Given the description of an element on the screen output the (x, y) to click on. 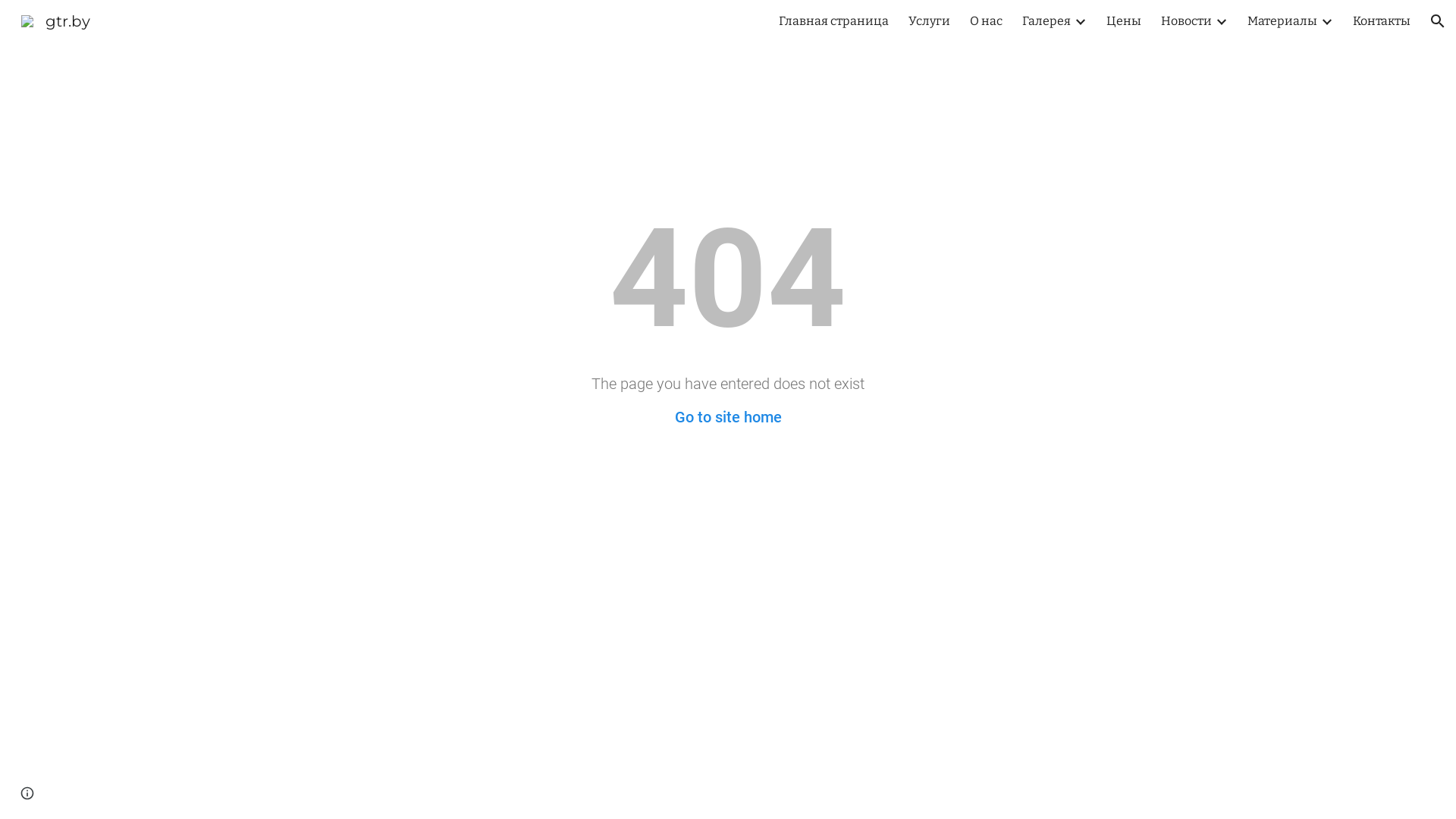
Expand/Collapse Element type: hover (1079, 20)
gtr.by Element type: text (55, 19)
Go to site home Element type: text (727, 416)
Expand/Collapse Element type: hover (1326, 20)
Expand/Collapse Element type: hover (1220, 20)
